Given the description of an element on the screen output the (x, y) to click on. 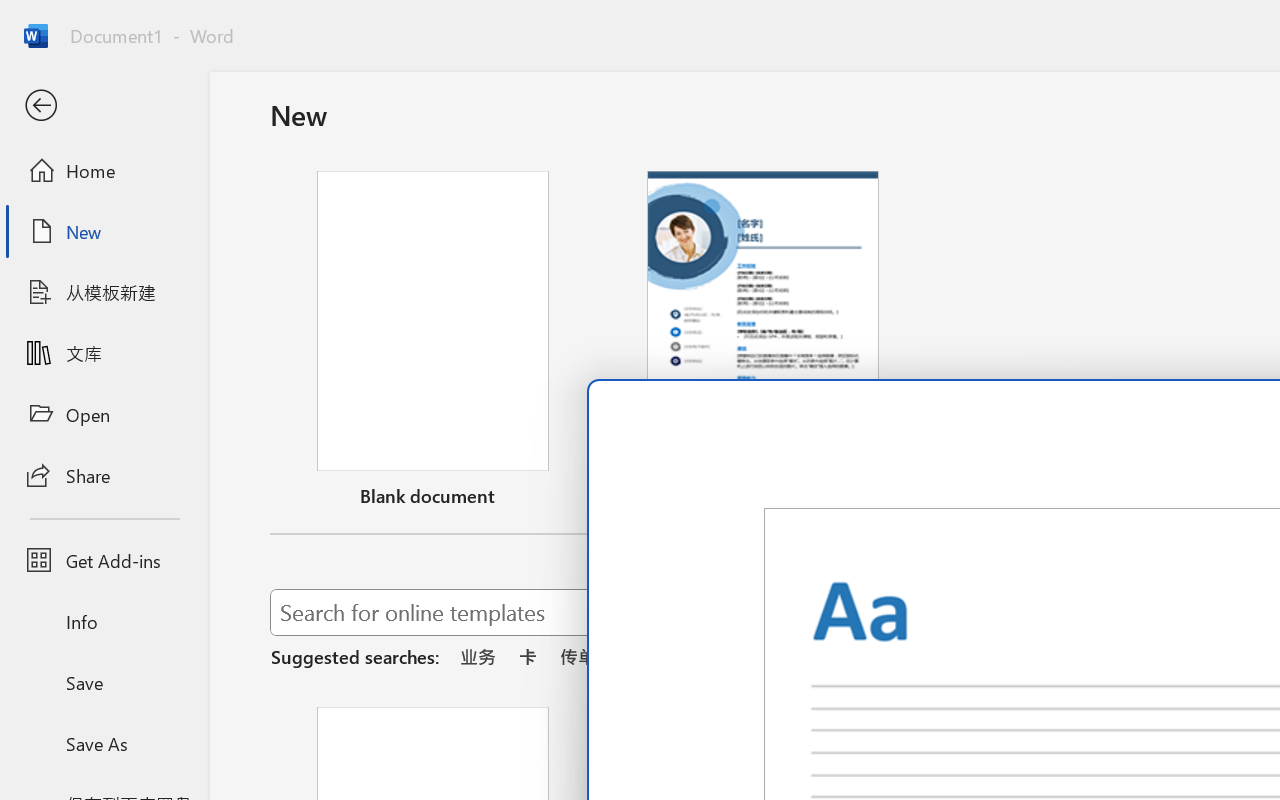
Info (104, 621)
New (104, 231)
Back (104, 106)
Save As (104, 743)
Get Add-ins (104, 560)
